Given the description of an element on the screen output the (x, y) to click on. 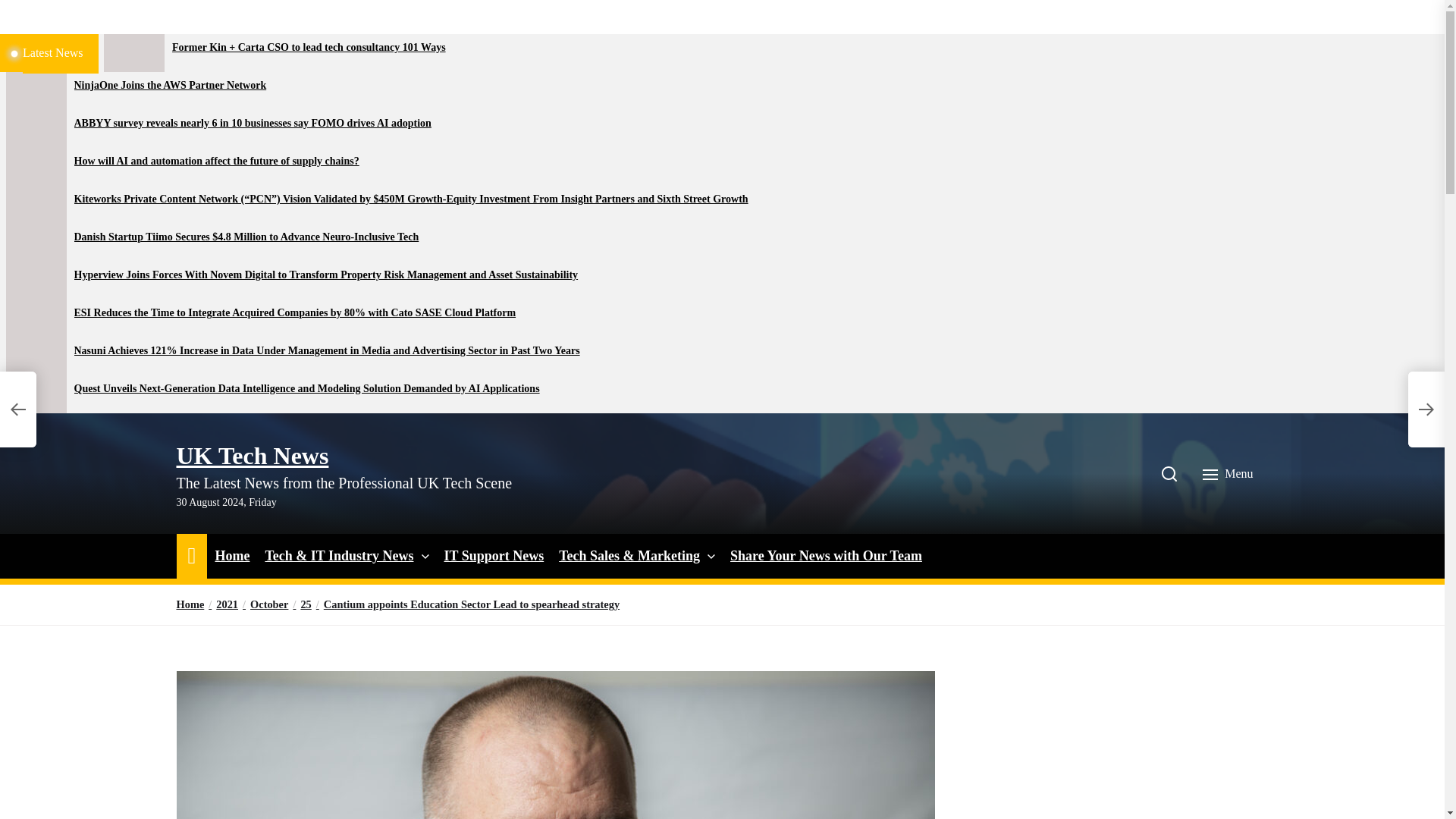
Home (231, 556)
Menu (1229, 473)
UK Tech News (252, 455)
